Given the description of an element on the screen output the (x, y) to click on. 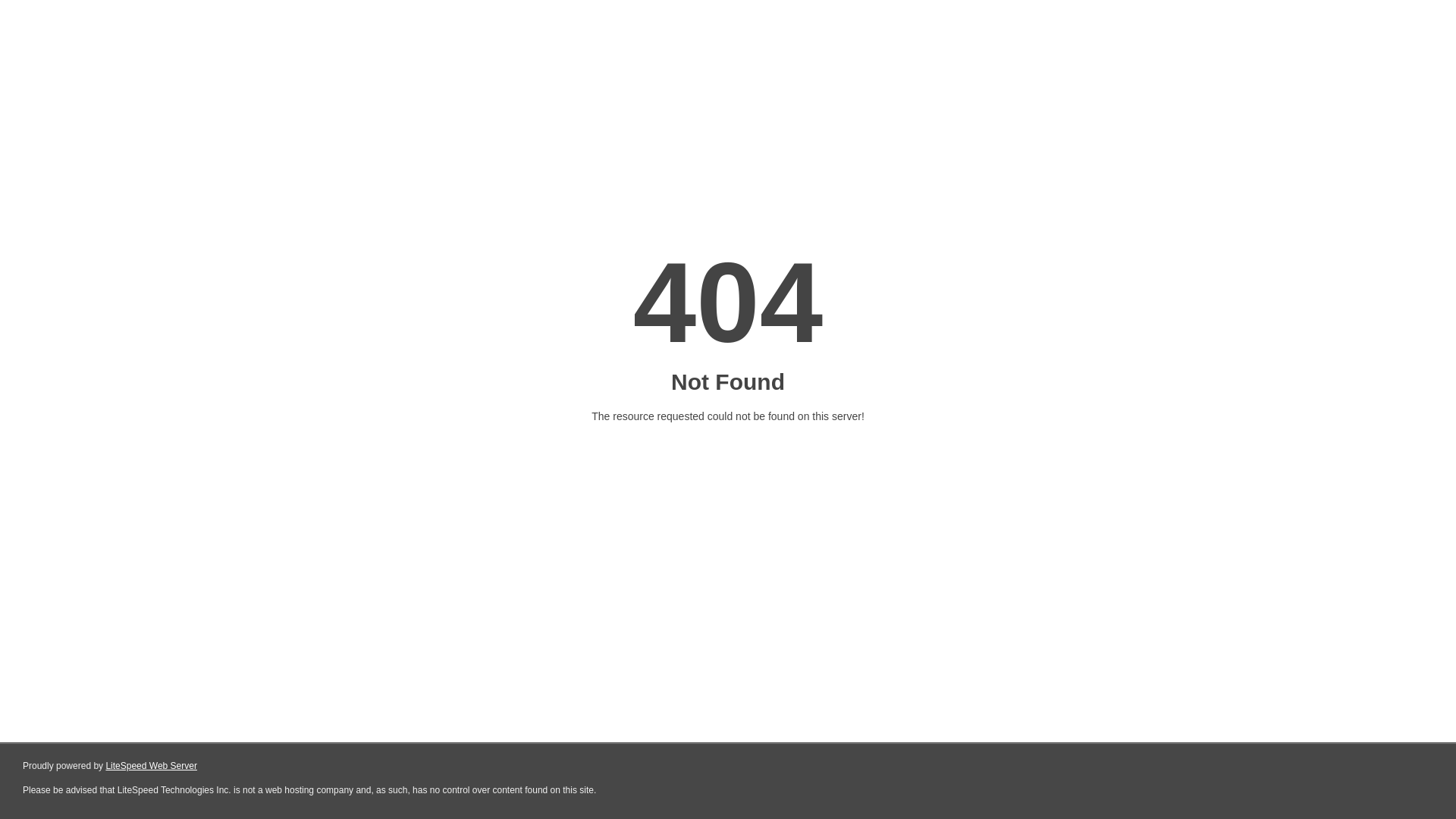
LiteSpeed Web Server Element type: text (151, 765)
